Given the description of an element on the screen output the (x, y) to click on. 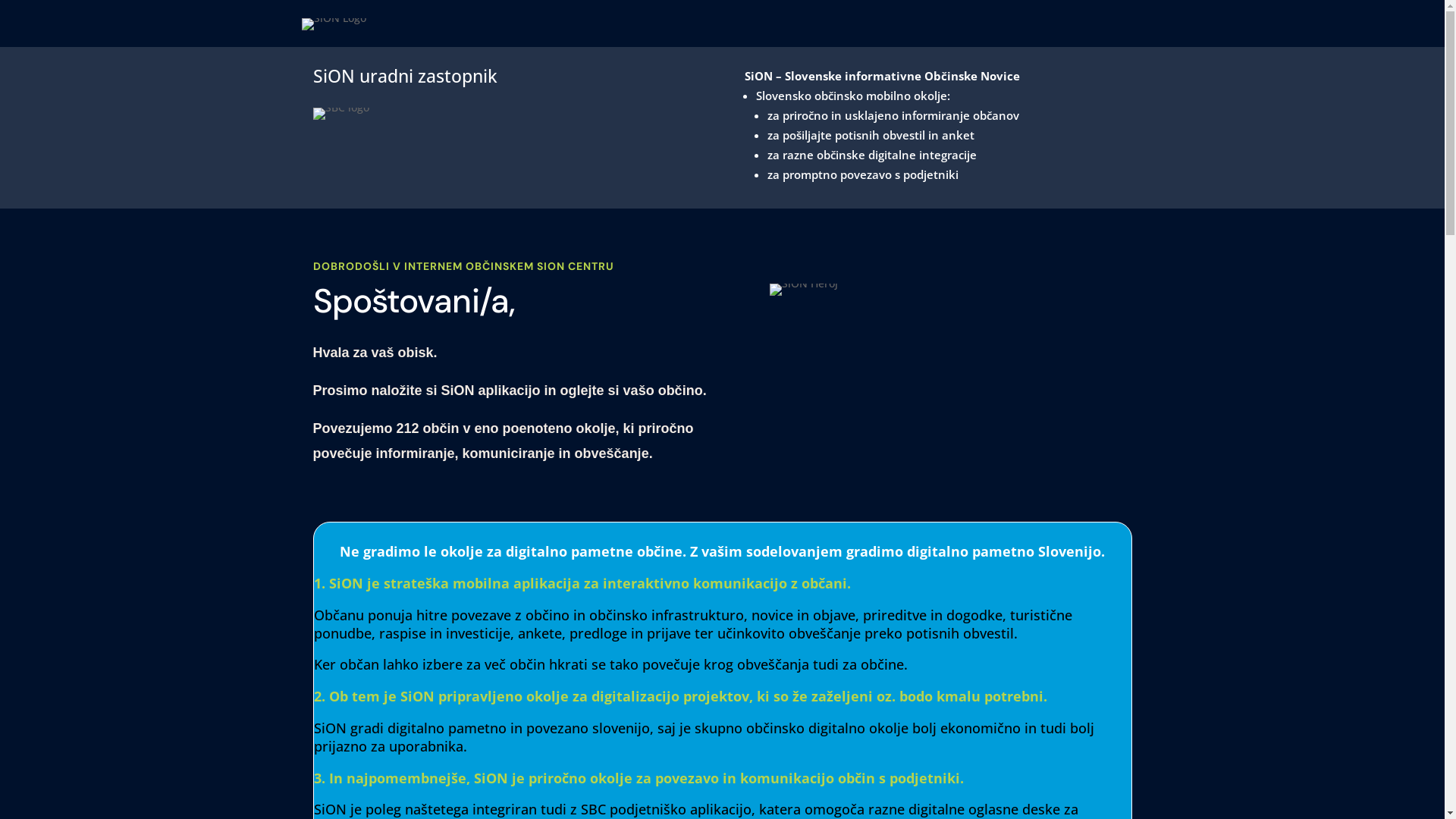
SiON-app Element type: hover (803, 289)
SBC Logo - white Element type: hover (340, 113)
SiON-logo-white Element type: hover (333, 24)
